Given the description of an element on the screen output the (x, y) to click on. 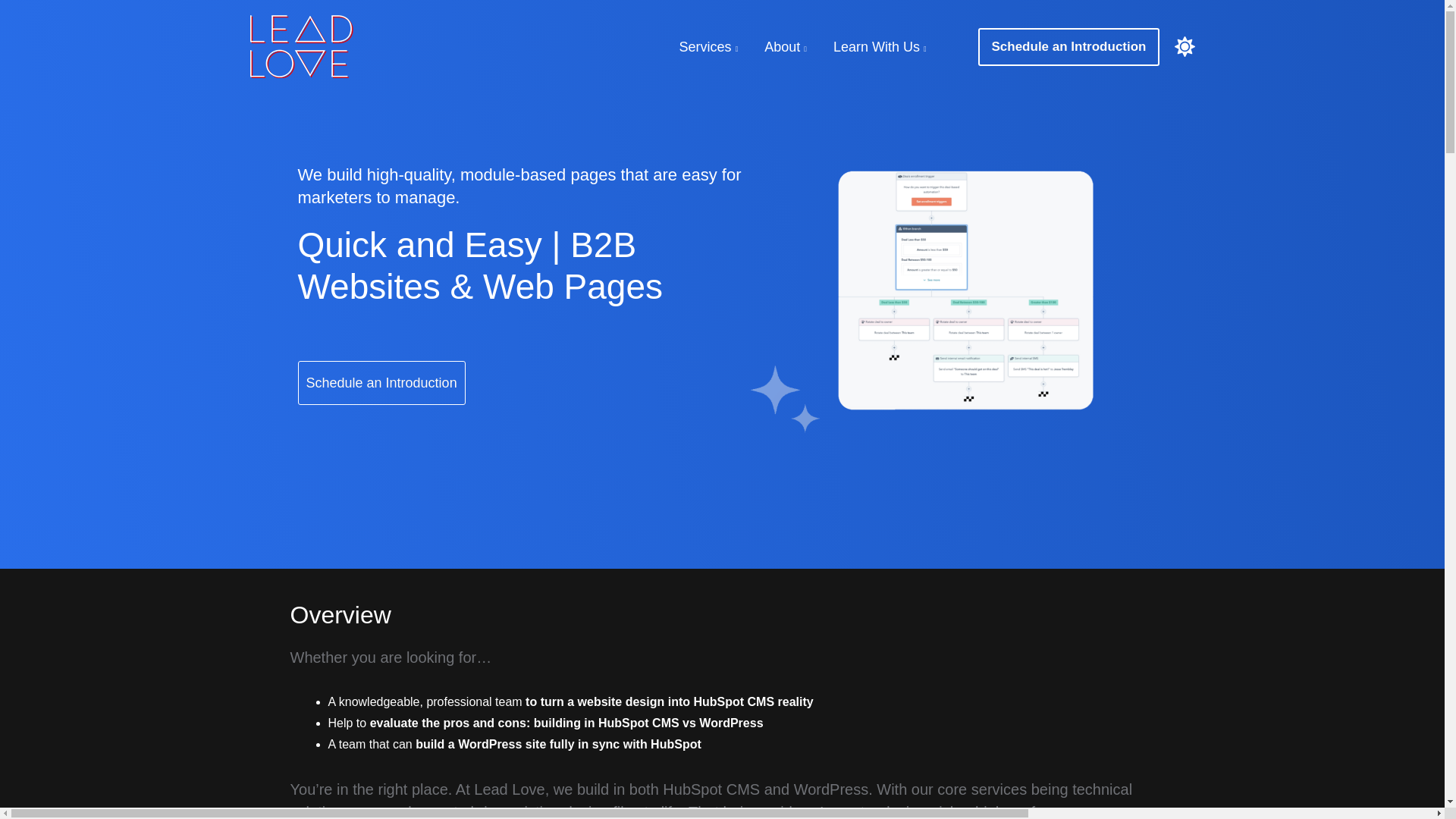
About (787, 46)
Schedule an Introduction (380, 382)
Schedule an Introduction (1068, 46)
Services (711, 46)
Learn With Us (882, 46)
